Given the description of an element on the screen output the (x, y) to click on. 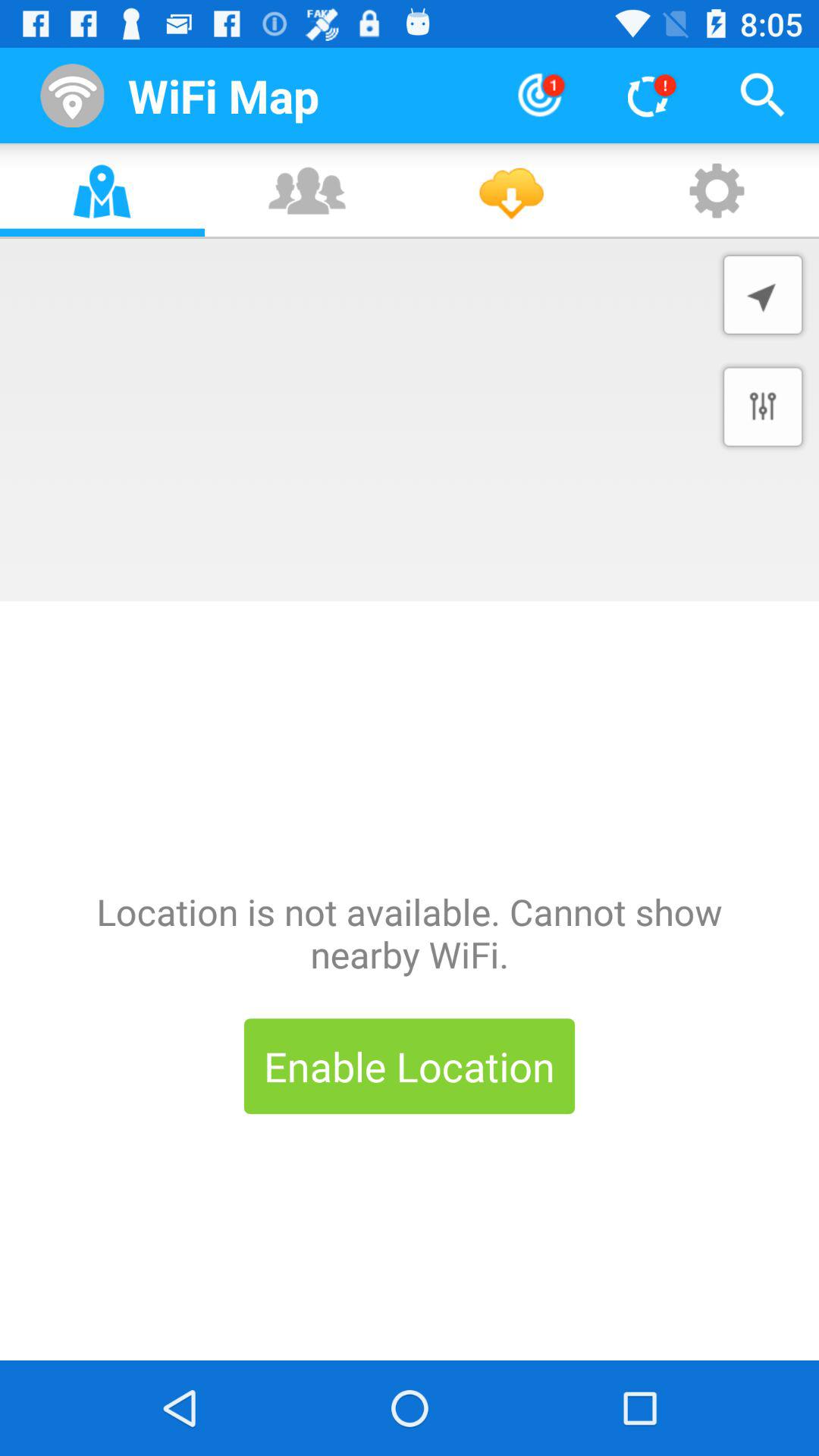
turn on enable location item (409, 1066)
